Given the description of an element on the screen output the (x, y) to click on. 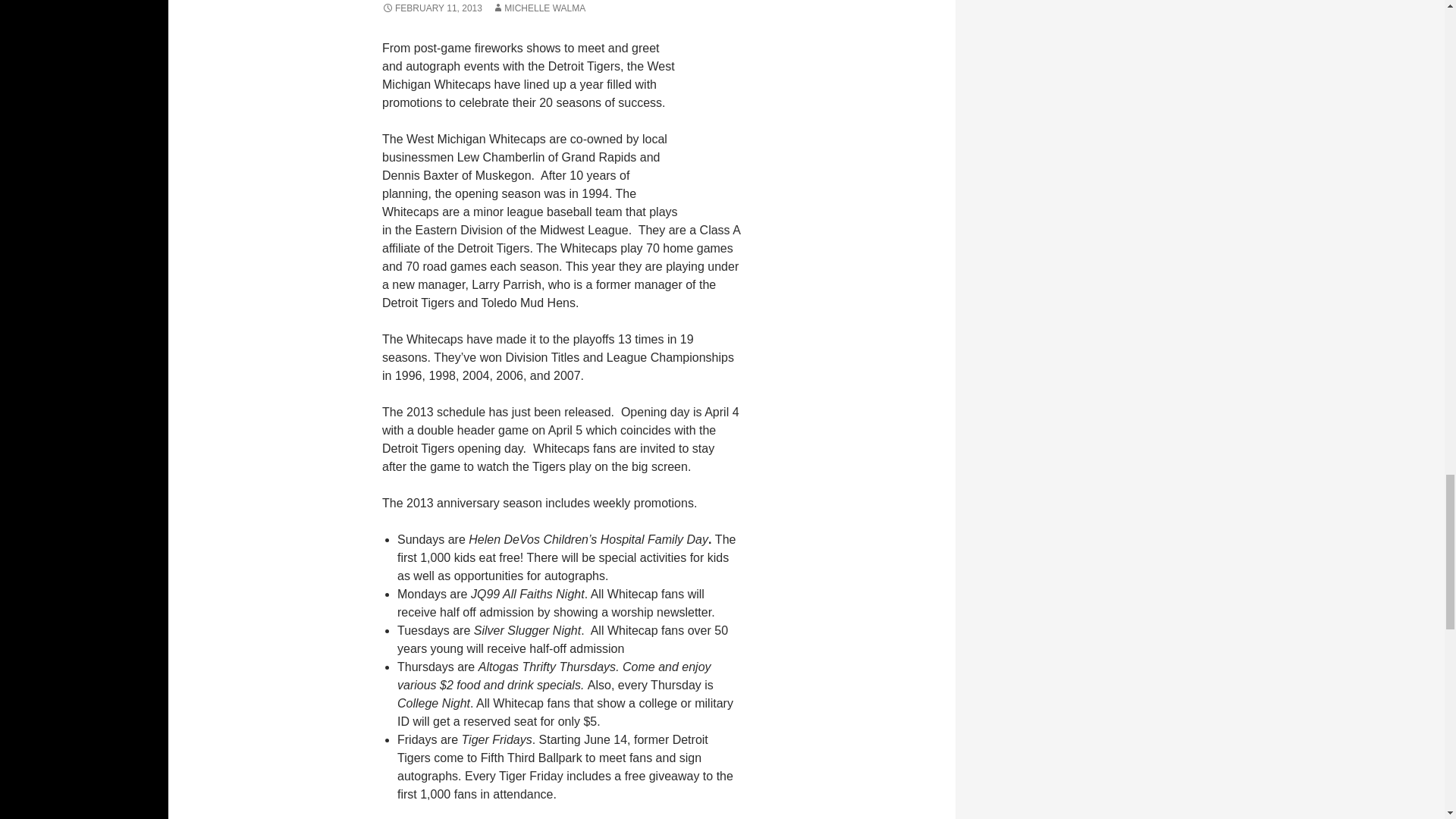
FEBRUARY 11, 2013 (431, 8)
MICHELLE WALMA (538, 8)
